Given the description of an element on the screen output the (x, y) to click on. 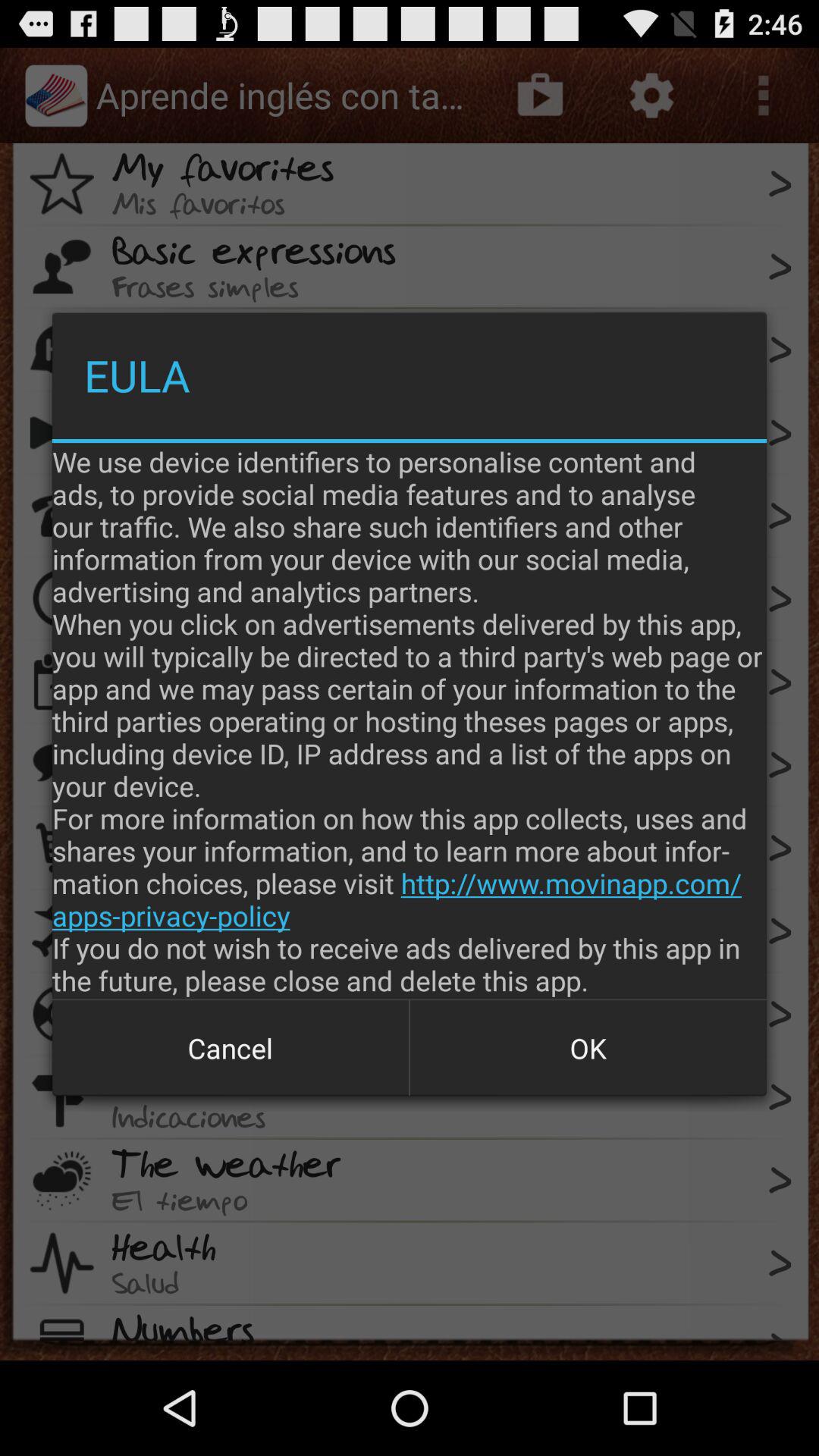
open button to the left of the ok item (230, 1047)
